Given the description of an element on the screen output the (x, y) to click on. 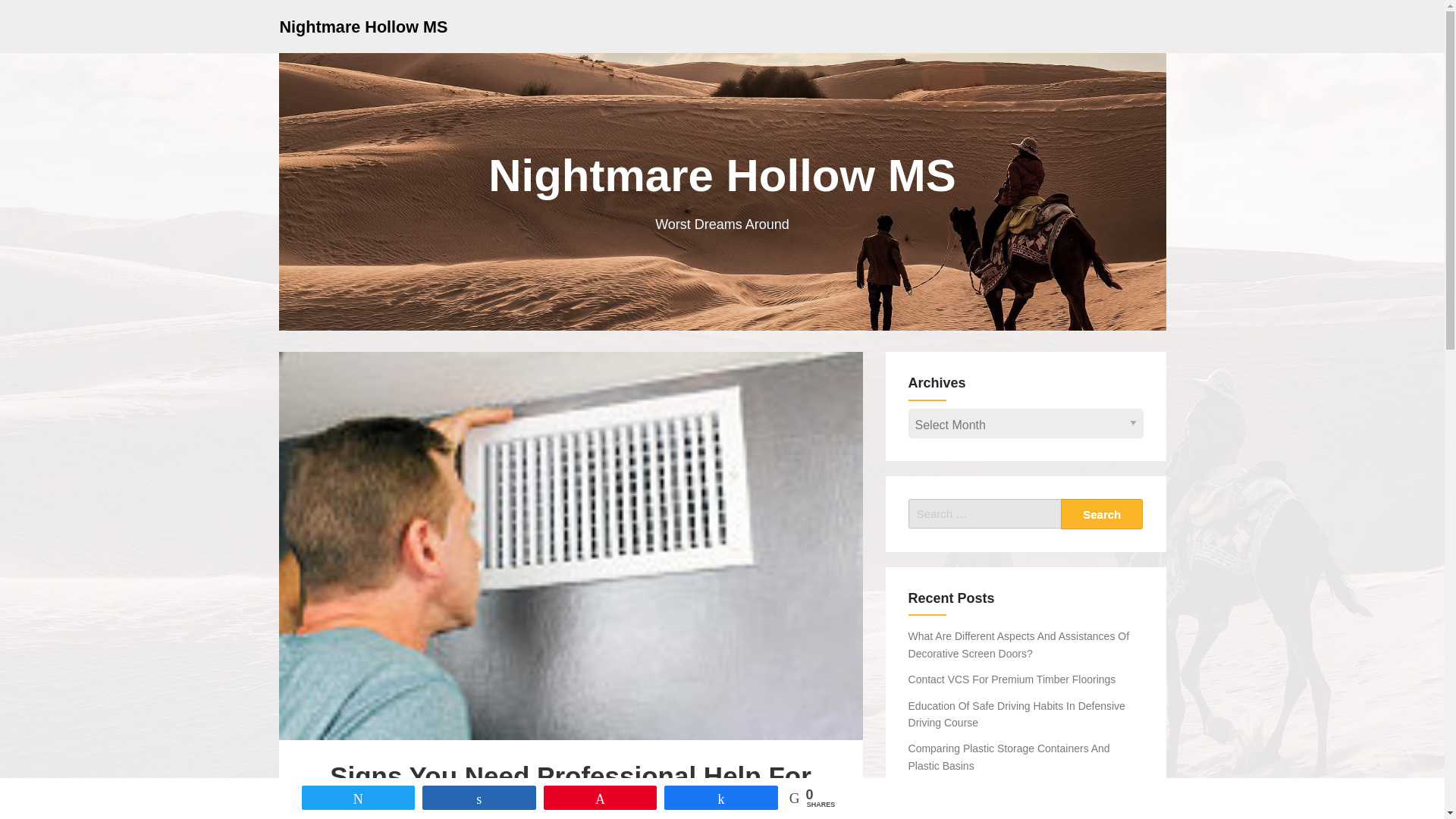
Search (1101, 513)
Contact VCS For Premium Timber Floorings (1012, 679)
LOOKING FOR THE LANDSCAPING AND MAINTENANCE OF THE GARDEN? (1008, 799)
Education Of Safe Driving Habits In Defensive Driving Course (1016, 714)
Search (1101, 513)
Nightmare Hollow MS (362, 26)
Comparing Plastic Storage Containers And Plastic Basins (1008, 756)
Search (1101, 513)
